Given the description of an element on the screen output the (x, y) to click on. 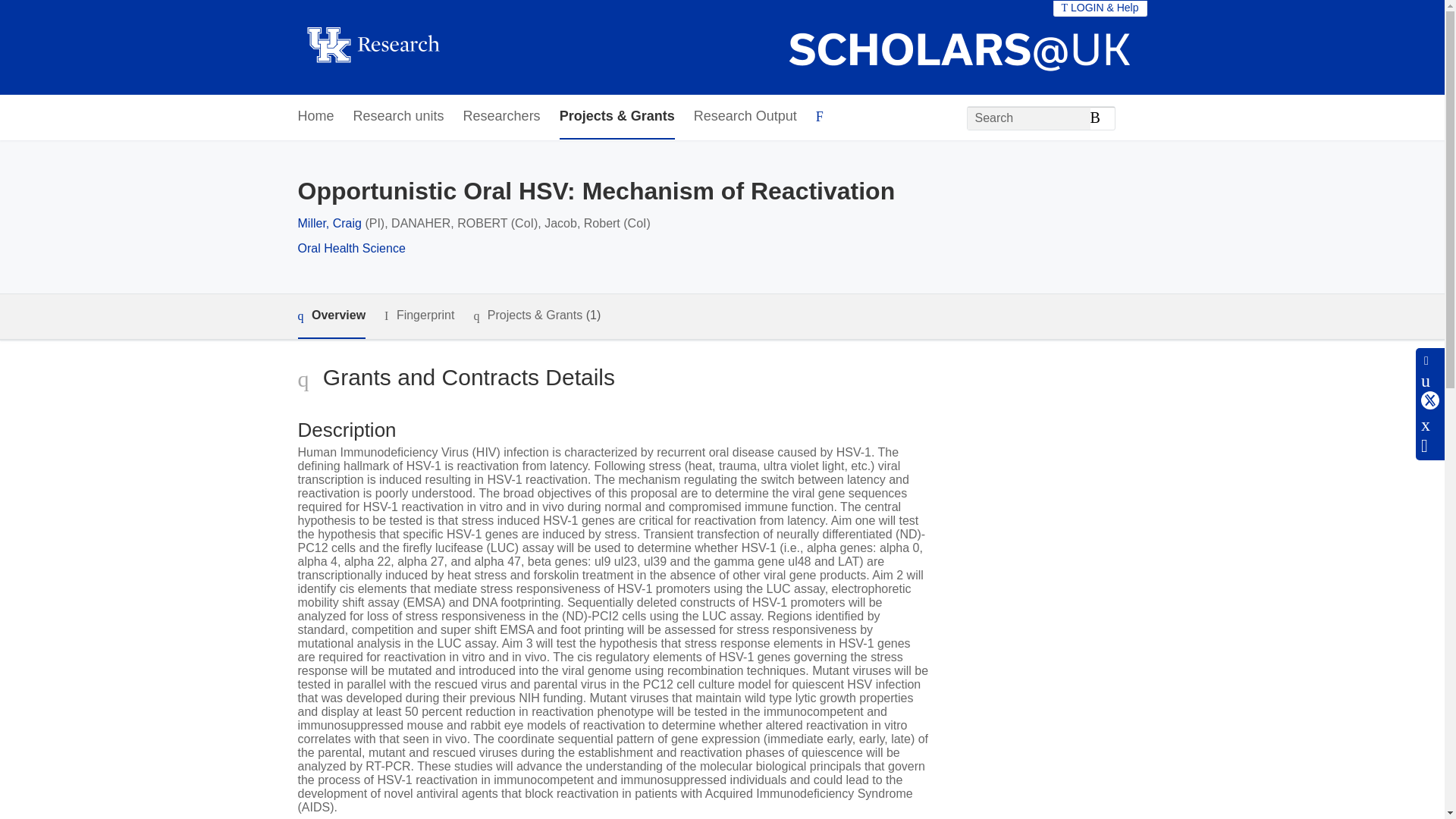
Research units (398, 117)
Researchers (501, 117)
University of Kentucky Home (372, 47)
Oral Health Science (350, 247)
Research Output (745, 117)
Overview (331, 316)
Miller, Craig (329, 223)
Fingerprint (419, 315)
